Given the description of an element on the screen output the (x, y) to click on. 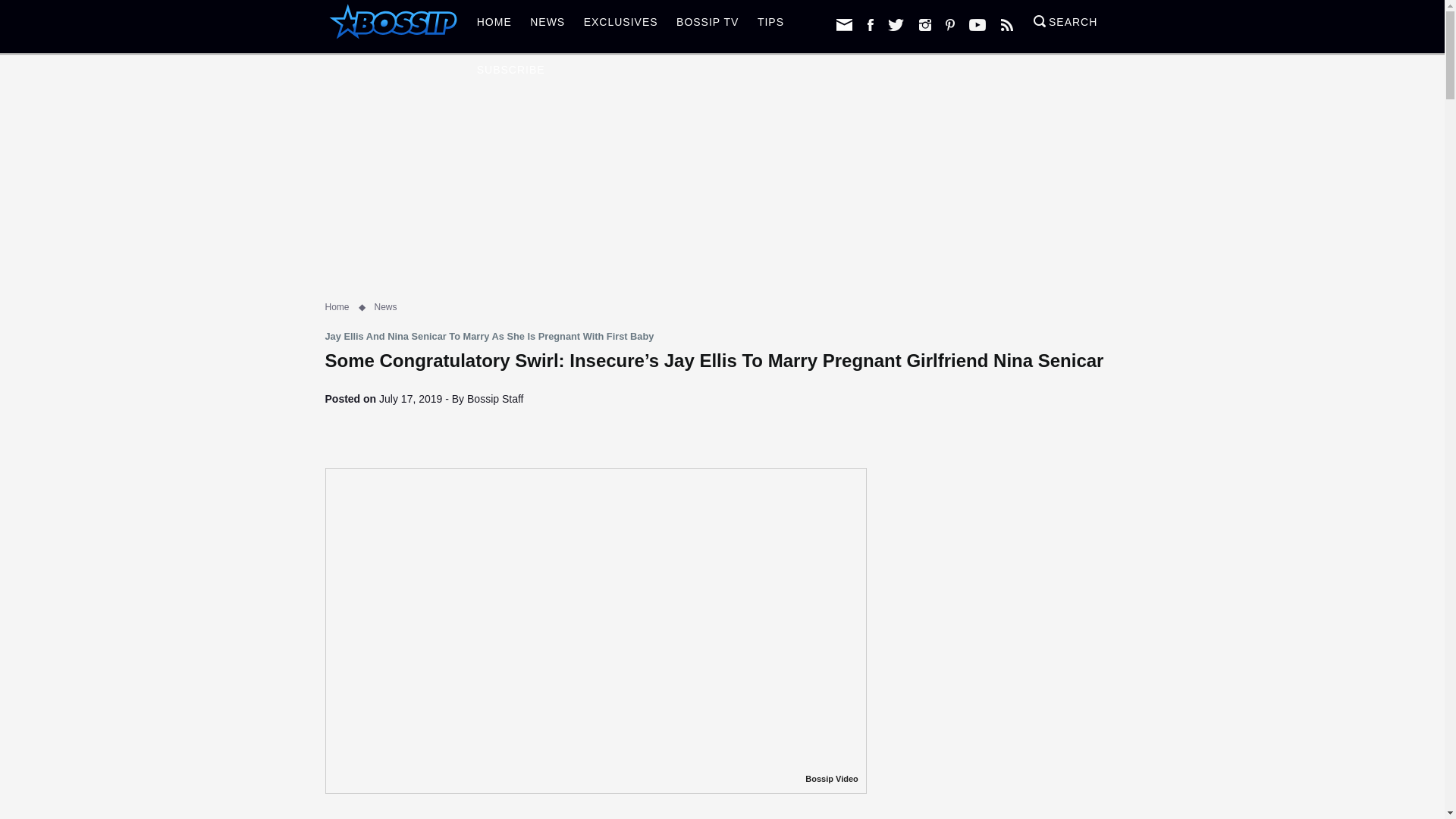
HOME (493, 26)
Home (336, 307)
Follow Bossip on Twitter (896, 24)
instagram (924, 24)
NEWS (547, 26)
newsletter (843, 24)
BOSSIP TV (706, 26)
Subscribe to Bossip on YouTube (977, 24)
EXCLUSIVES (620, 26)
Follow Bossip on Instagram (924, 24)
youtube (977, 24)
News (385, 307)
SEARCH (1065, 26)
Subscribe to our newsletter (843, 24)
SUBSCRIBE (510, 74)
